Given the description of an element on the screen output the (x, y) to click on. 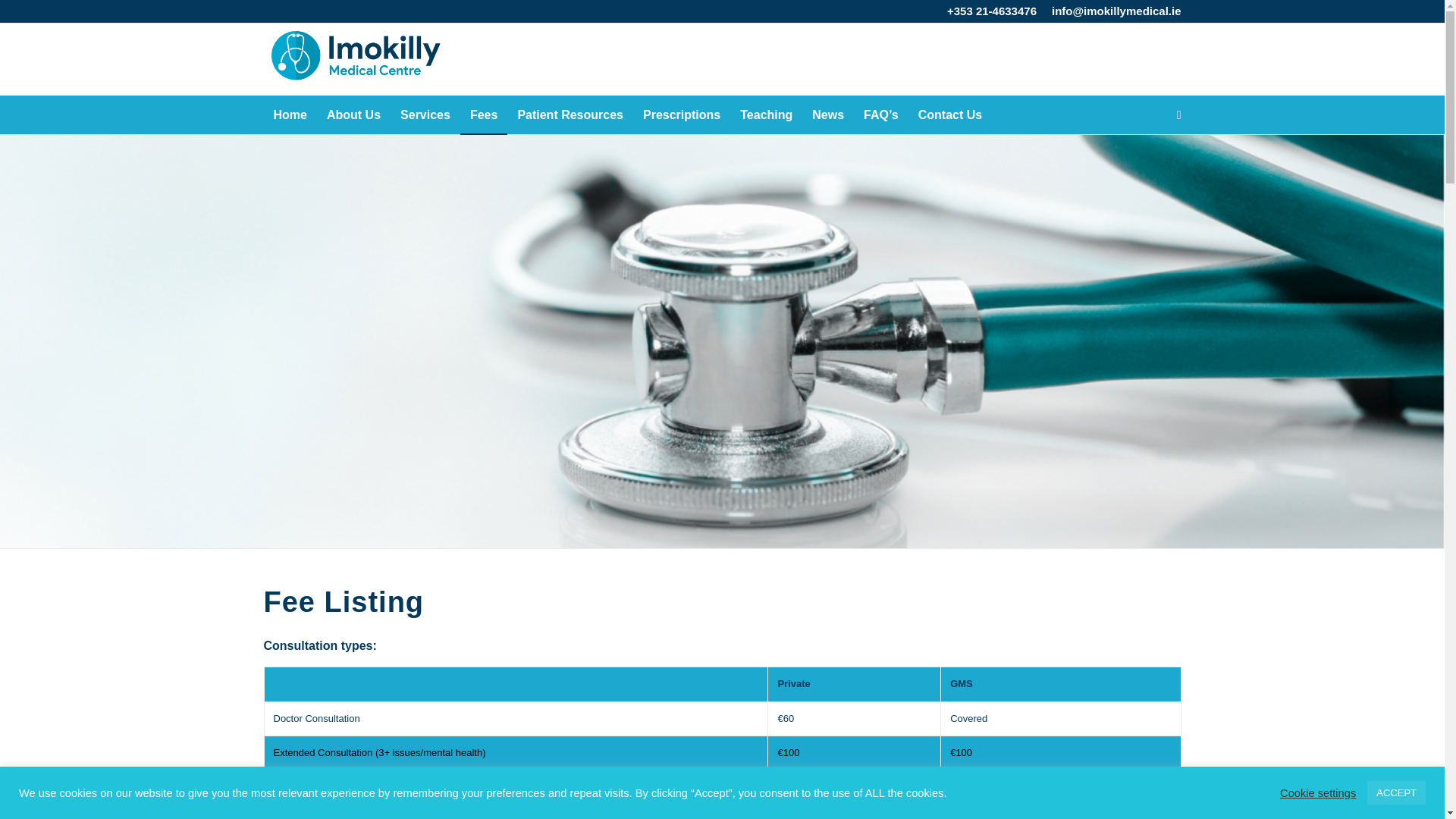
Home (290, 115)
Cookie settings (1317, 792)
Fees (483, 115)
Contact Us (949, 115)
Prescriptions (681, 115)
ACCEPT (1396, 792)
Services (425, 115)
Teaching (766, 115)
About Us (353, 115)
News (827, 115)
